Given the description of an element on the screen output the (x, y) to click on. 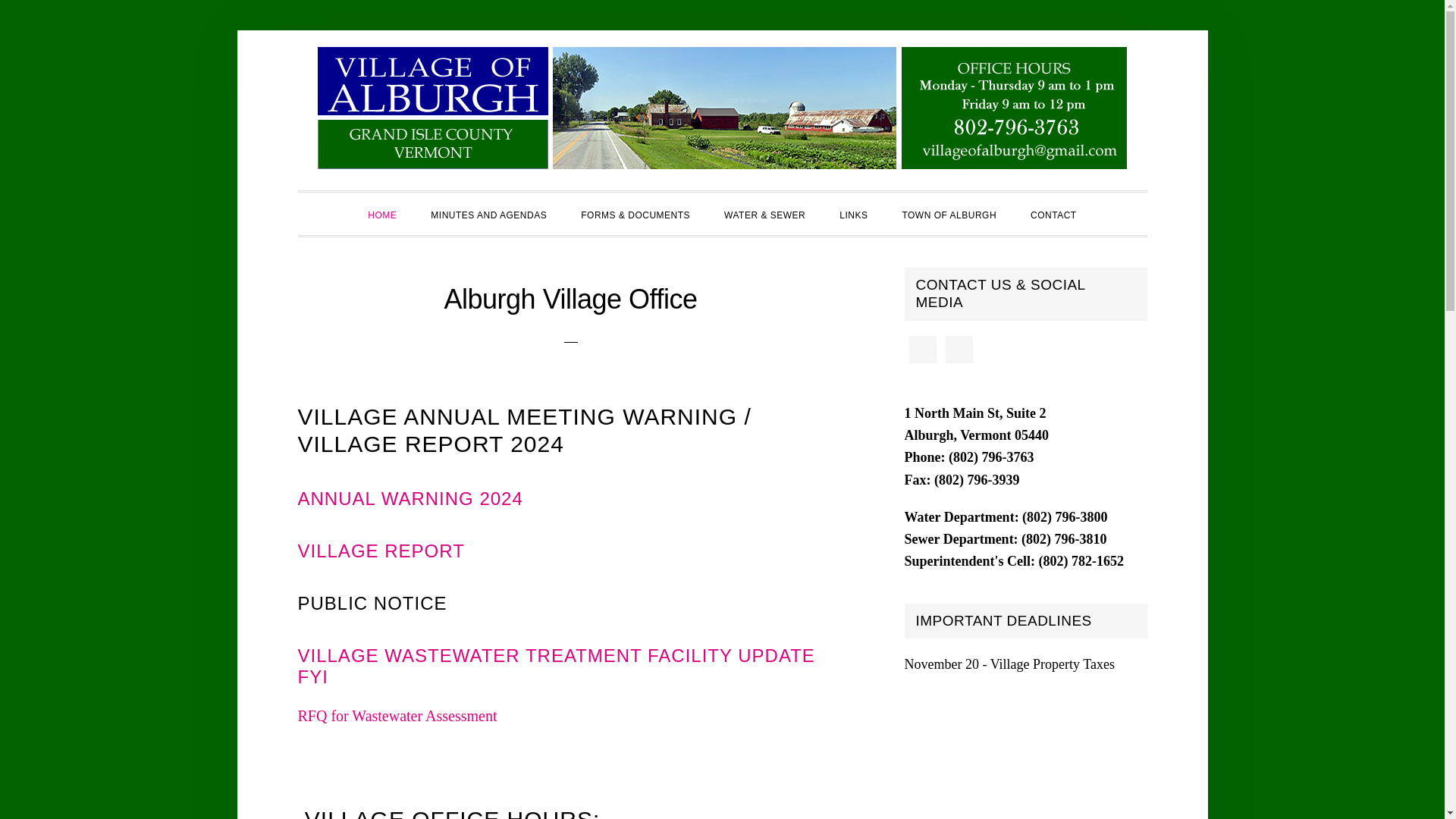
VILLAGE REPORT (380, 550)
TOWN OF ALBURGH (948, 213)
VILLAGE OF ALBURGH (722, 108)
RFQ for Wastewater Assessment (396, 715)
ANNUAL WARNING 2024 (409, 498)
MINUTES AND AGENDAS (488, 213)
HOME (382, 213)
CONTACT (1053, 213)
VILLAGE WASTEWATER TREATMENT FACILITY UPDATE FYI (555, 666)
LINKS (853, 213)
